Given the description of an element on the screen output the (x, y) to click on. 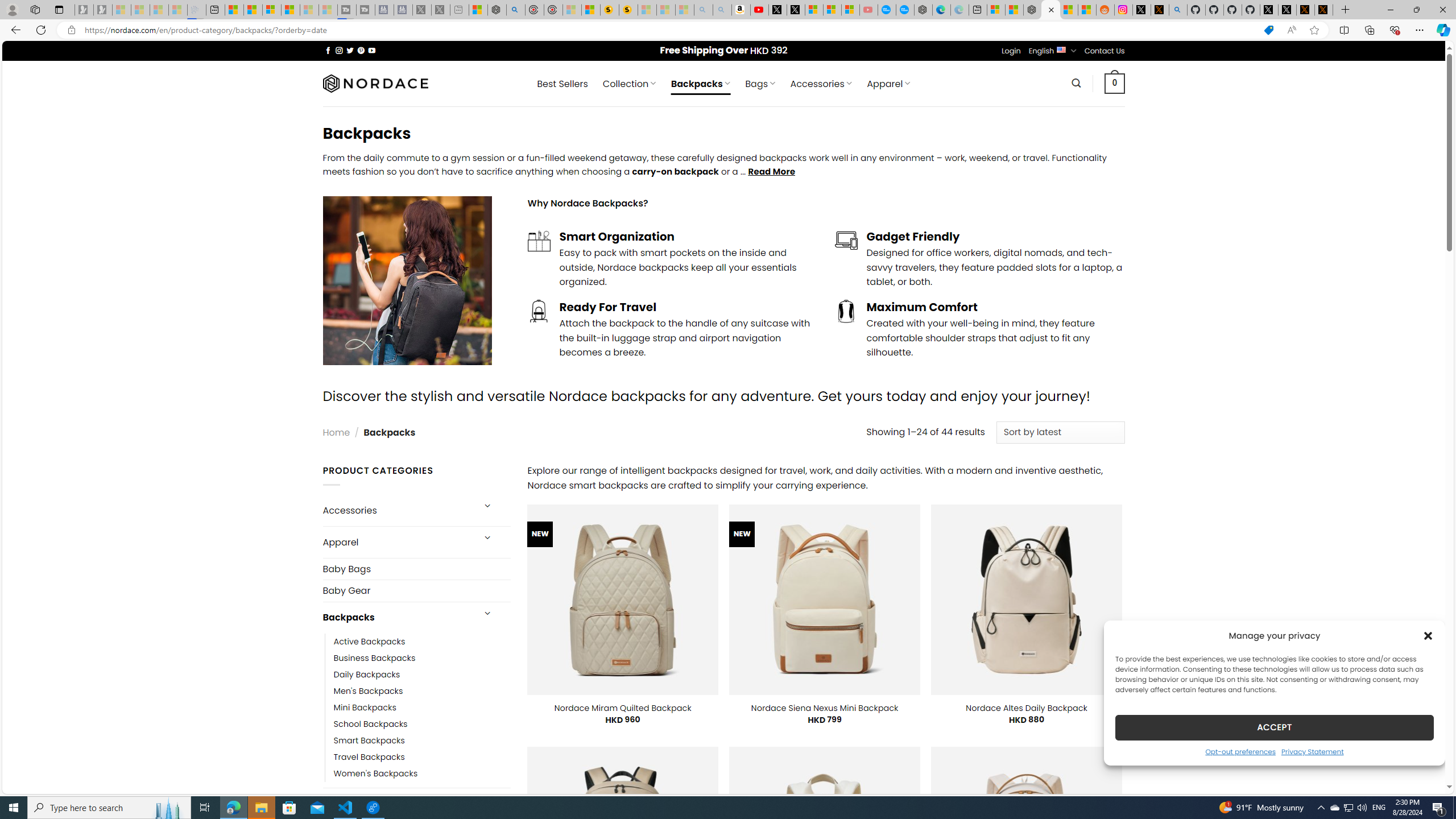
 0  (1115, 83)
Login (1010, 50)
The most popular Google 'how to' searches (904, 9)
Nordace Miram Quilted Backpack (622, 708)
Travel Backpacks (368, 756)
GitHub (@github) / X (1287, 9)
Follow on Instagram (338, 49)
